Given the description of an element on the screen output the (x, y) to click on. 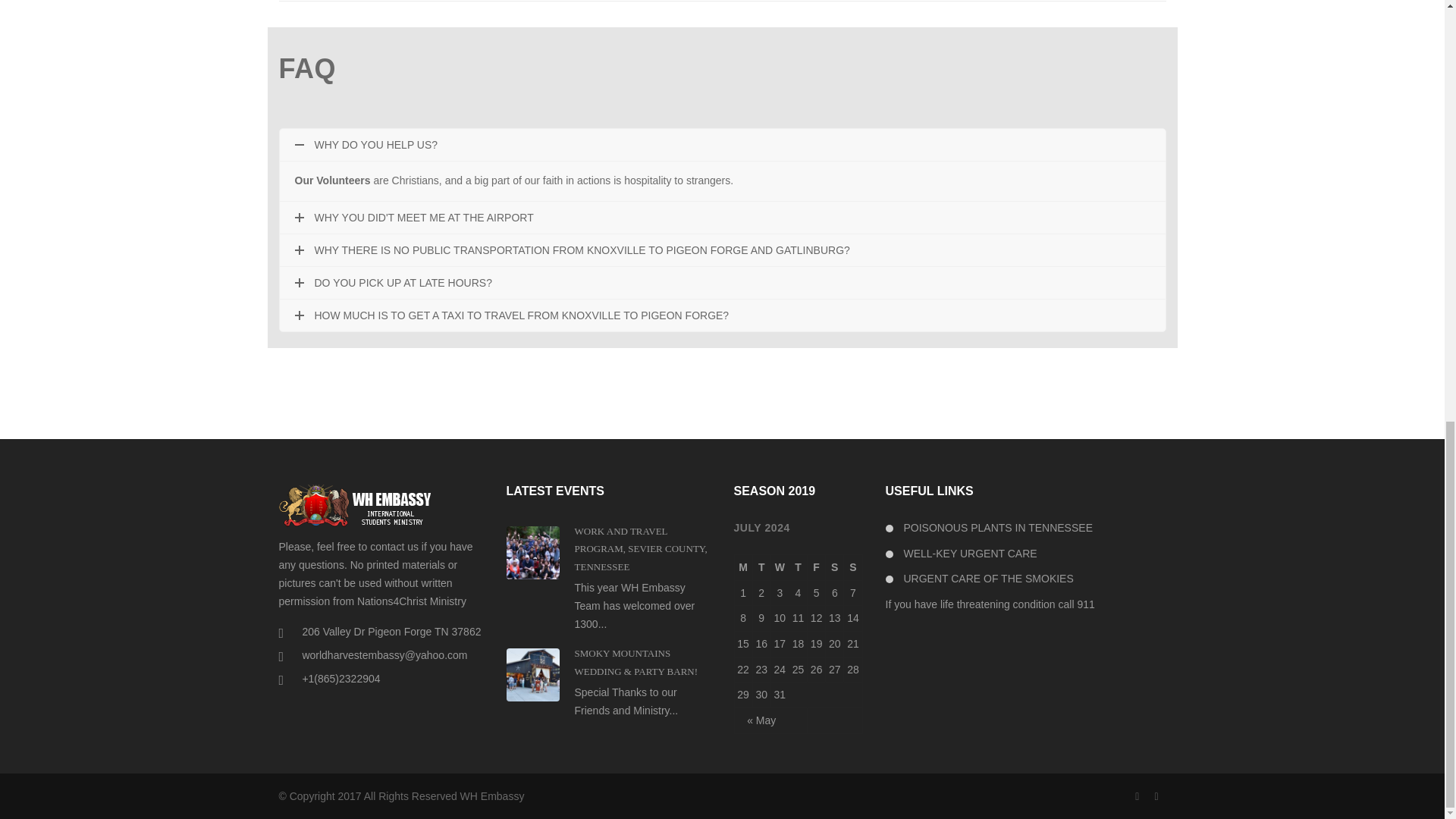
DO YOU PICK UP AT LATE HOURS? (721, 282)
WHY YOU DID'T MEET ME AT THE AIRPORT (721, 217)
WORK AND TRAVEL PROGRAM, SEVIER COUNTY, TENNESSEE (641, 548)
WHY DO YOU HELP US? (721, 144)
